Given the description of an element on the screen output the (x, y) to click on. 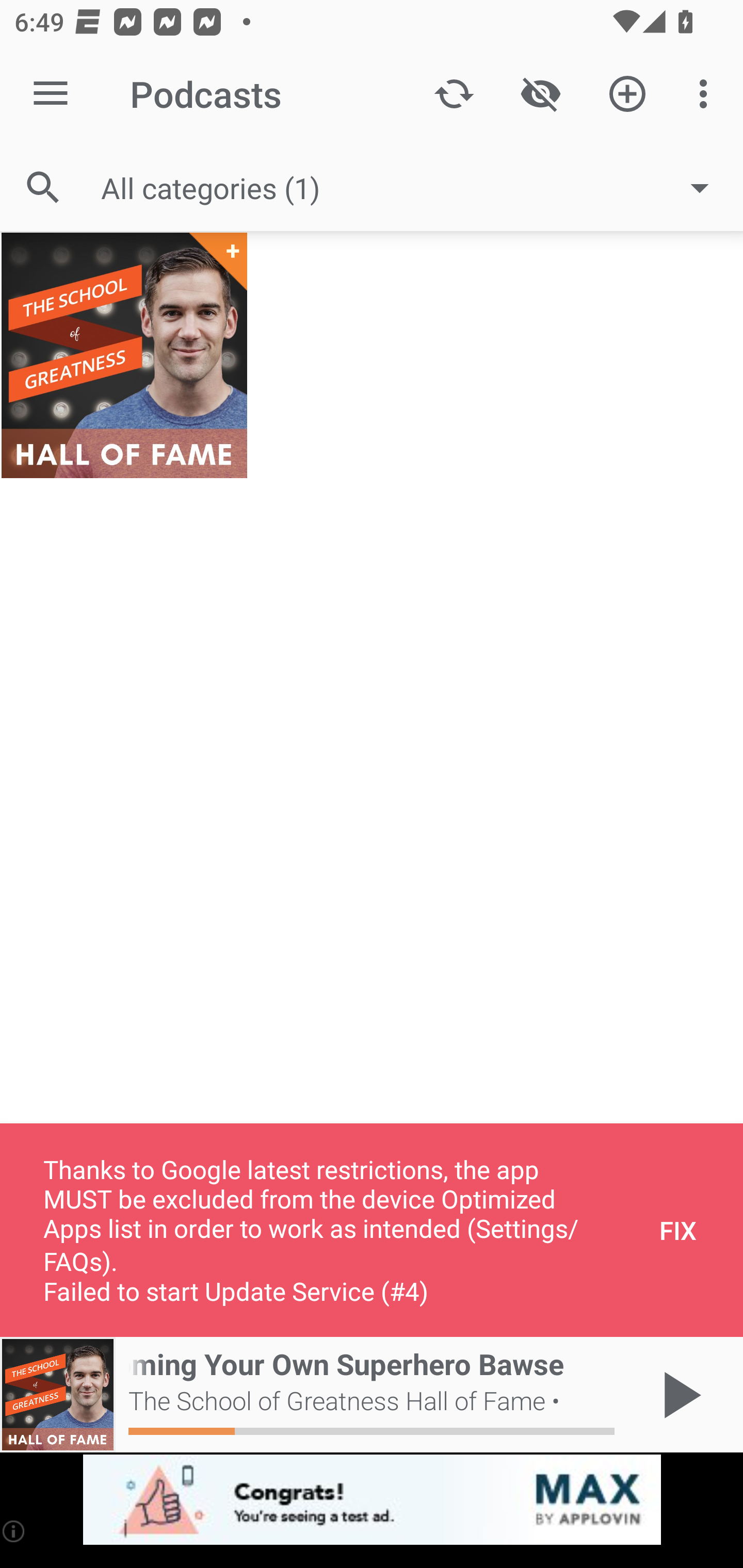
Open navigation sidebar (50, 93)
Update (453, 93)
Show / Hide played content (540, 93)
Add new Podcast (626, 93)
More options (706, 93)
Search (43, 187)
All categories (1) (414, 188)
The School of Greatness Hall of Fame + (124, 355)
FIX (677, 1229)
Play / Pause (677, 1394)
app-monetization (371, 1500)
(i) (14, 1531)
